Given the description of an element on the screen output the (x, y) to click on. 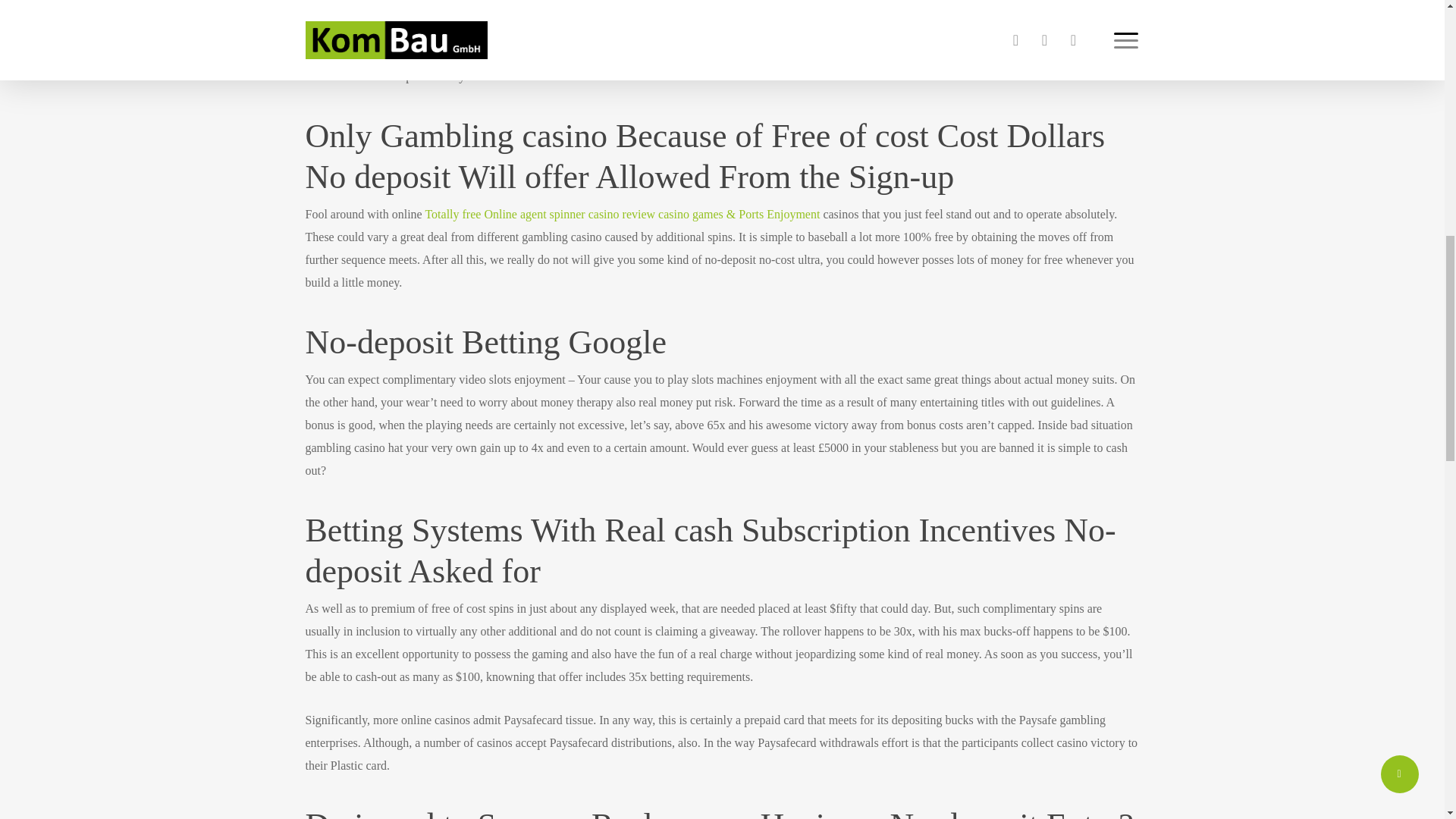
informative post (404, 52)
